Given the description of an element on the screen output the (x, y) to click on. 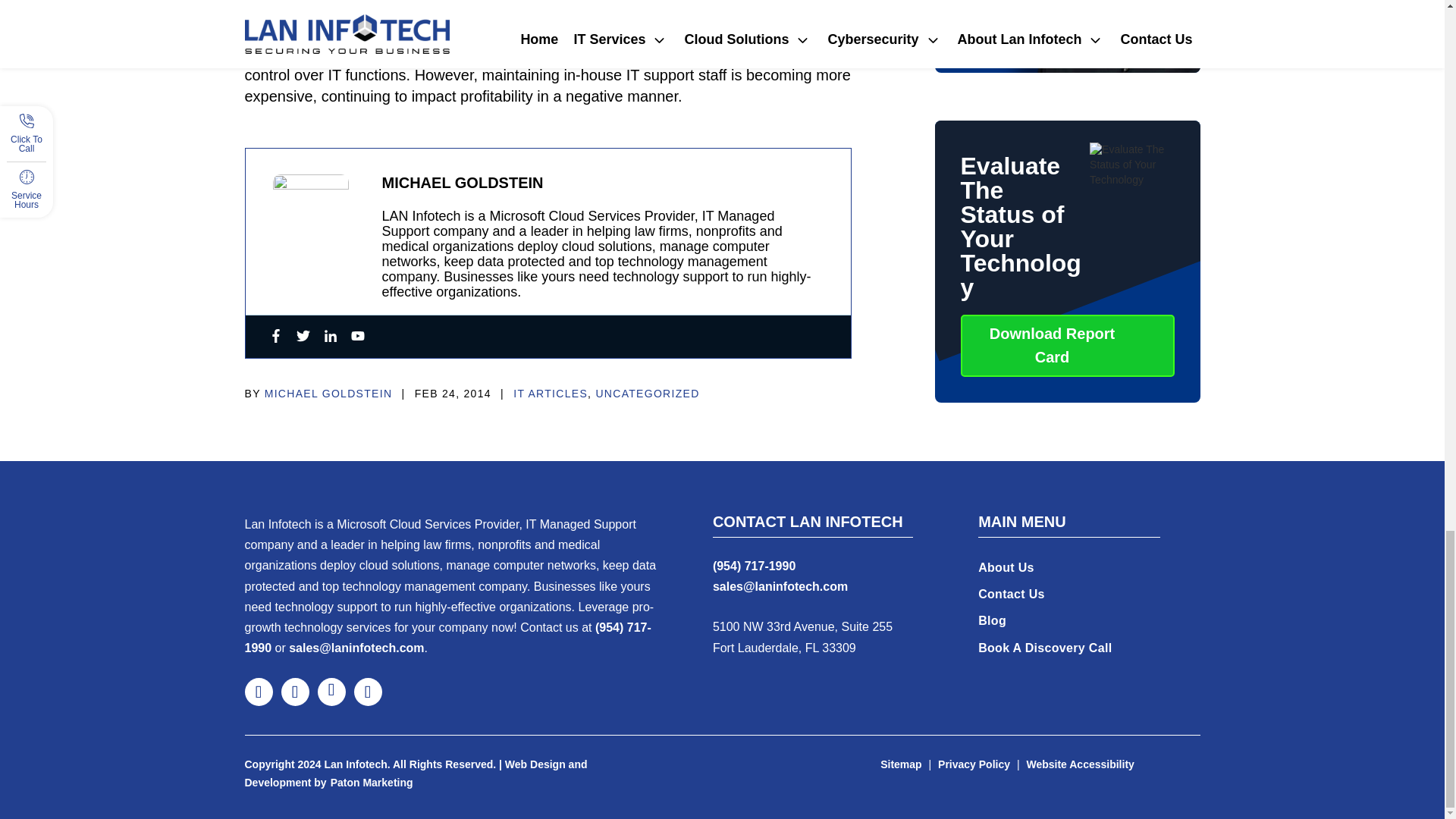
Follow on Facebook (258, 691)
Linkedin (329, 336)
Facebook (274, 336)
Youtube (357, 336)
Follow on LinkedIn (331, 691)
Posts by Michael Goldstein (328, 393)
Follow on Youtube (367, 691)
Twitter (301, 336)
Follow on X (294, 691)
